Given the description of an element on the screen output the (x, y) to click on. 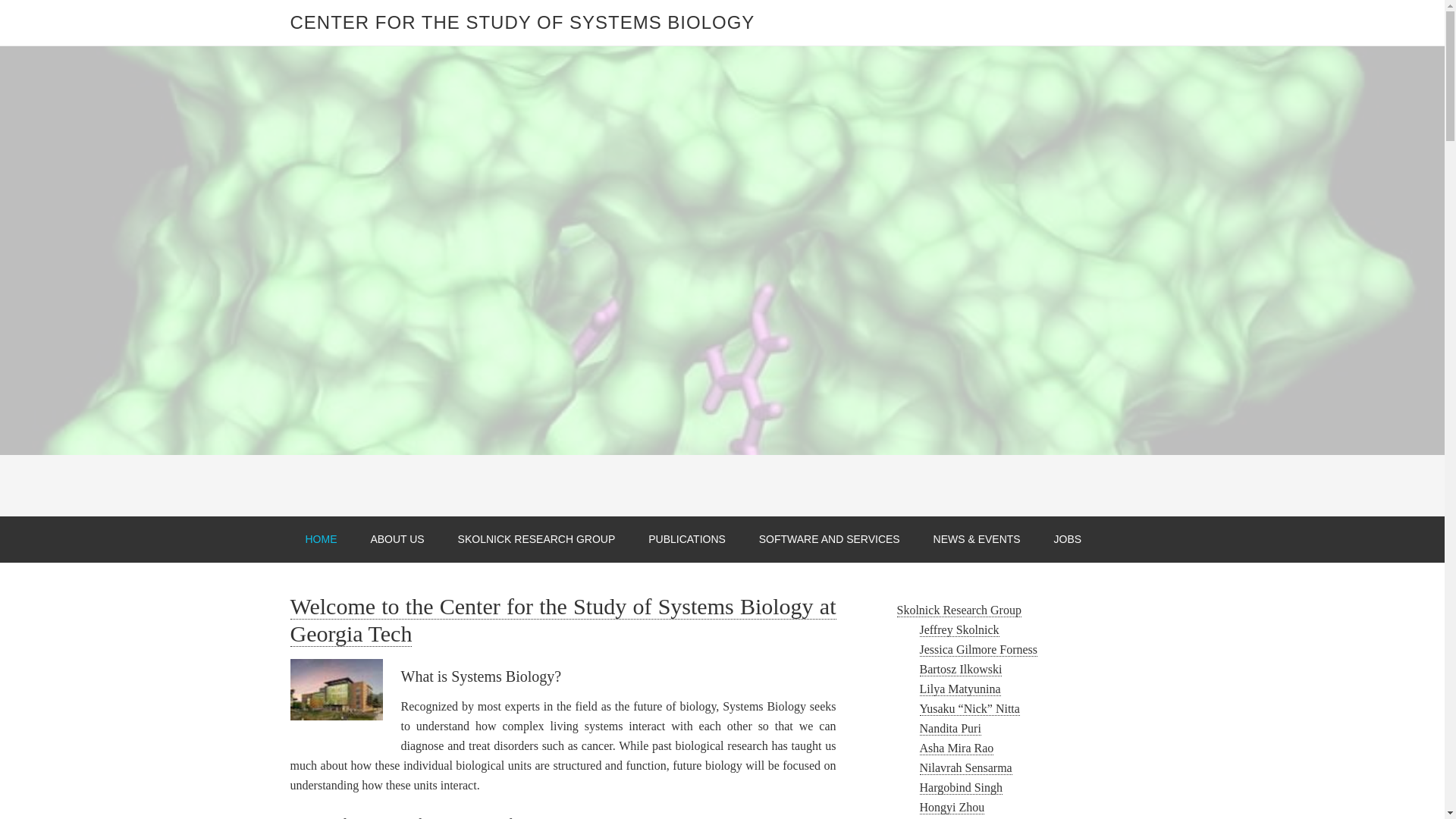
PUBLICATIONS (687, 539)
SKOLNICK RESEARCH GROUP (536, 539)
ABOUT US (397, 539)
HOME (320, 539)
SOFTWARE AND SERVICES (829, 539)
CENTER FOR THE STUDY OF SYSTEMS BIOLOGY (521, 22)
